Given the description of an element on the screen output the (x, y) to click on. 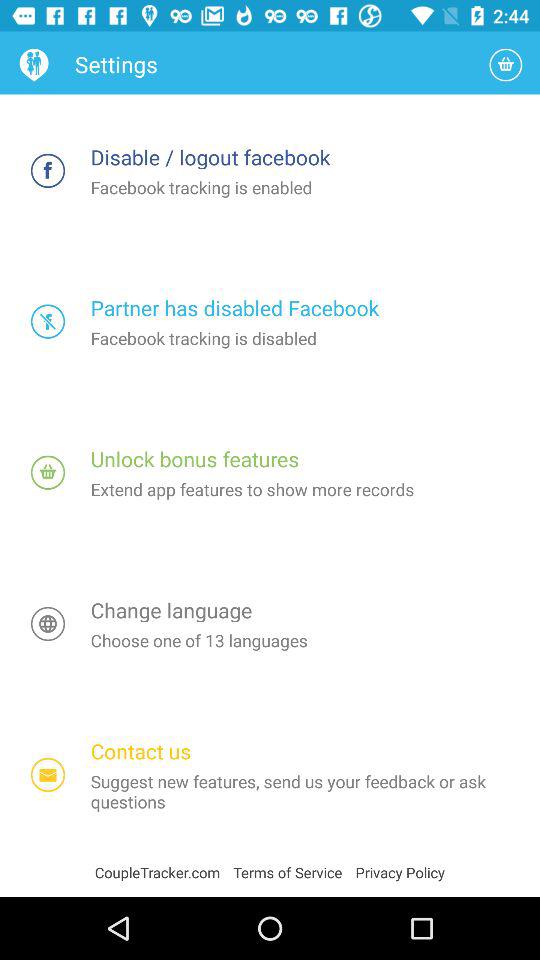
logout of facebook (47, 170)
